Given the description of an element on the screen output the (x, y) to click on. 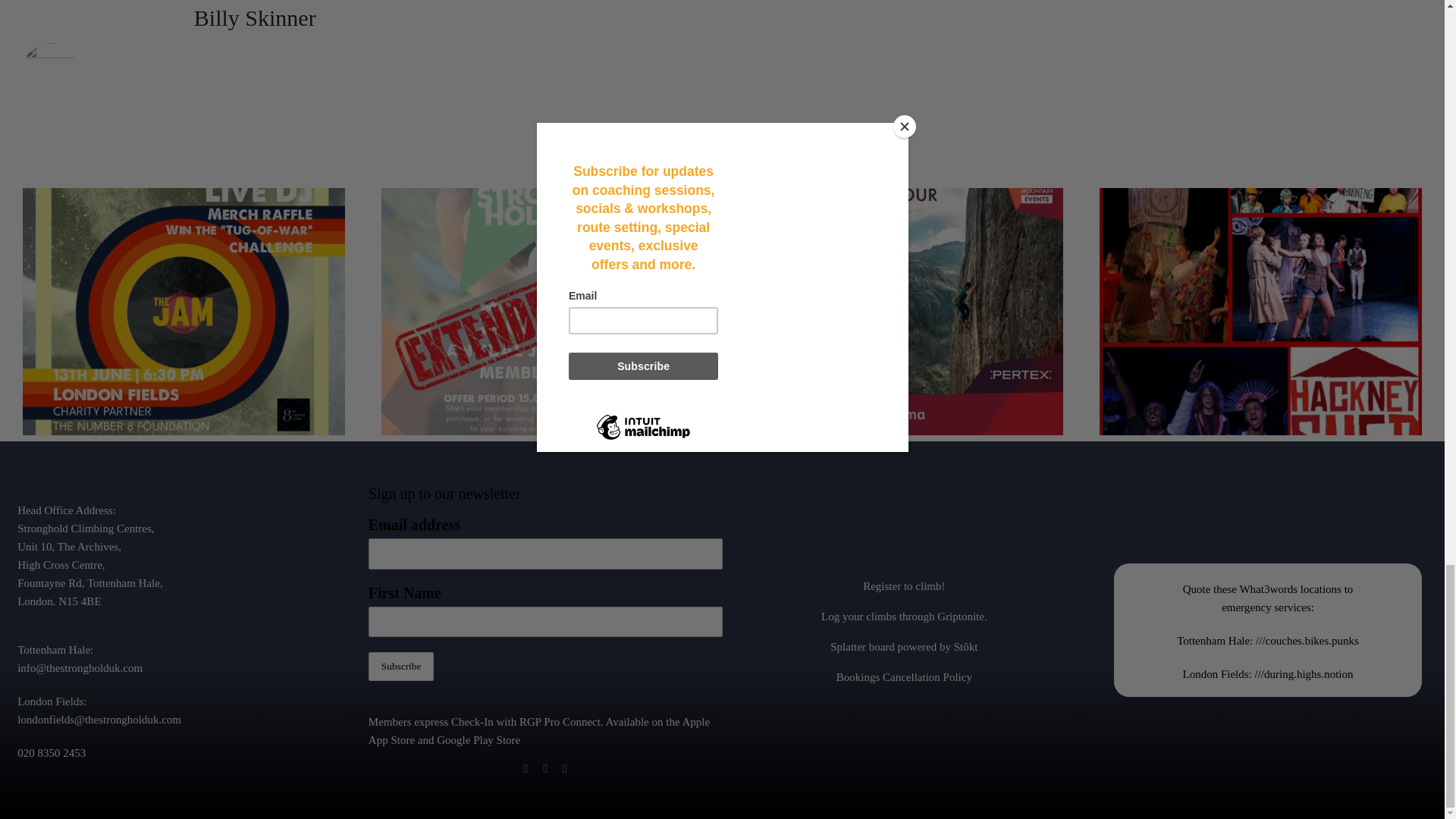
Posts by Billy Skinner (254, 17)
Subscribe (400, 665)
